Given the description of an element on the screen output the (x, y) to click on. 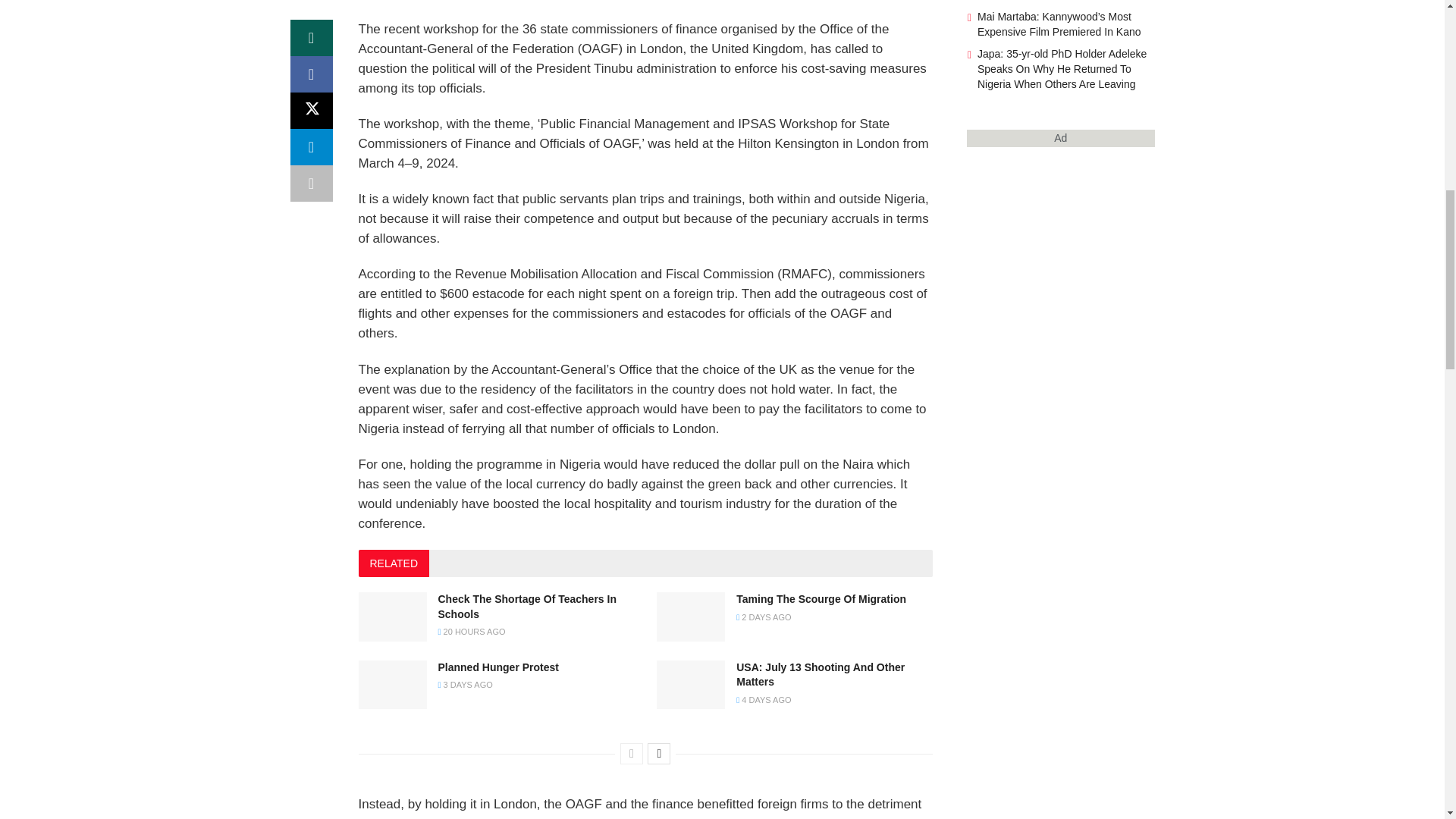
Previous (631, 753)
